Given the description of an element on the screen output the (x, y) to click on. 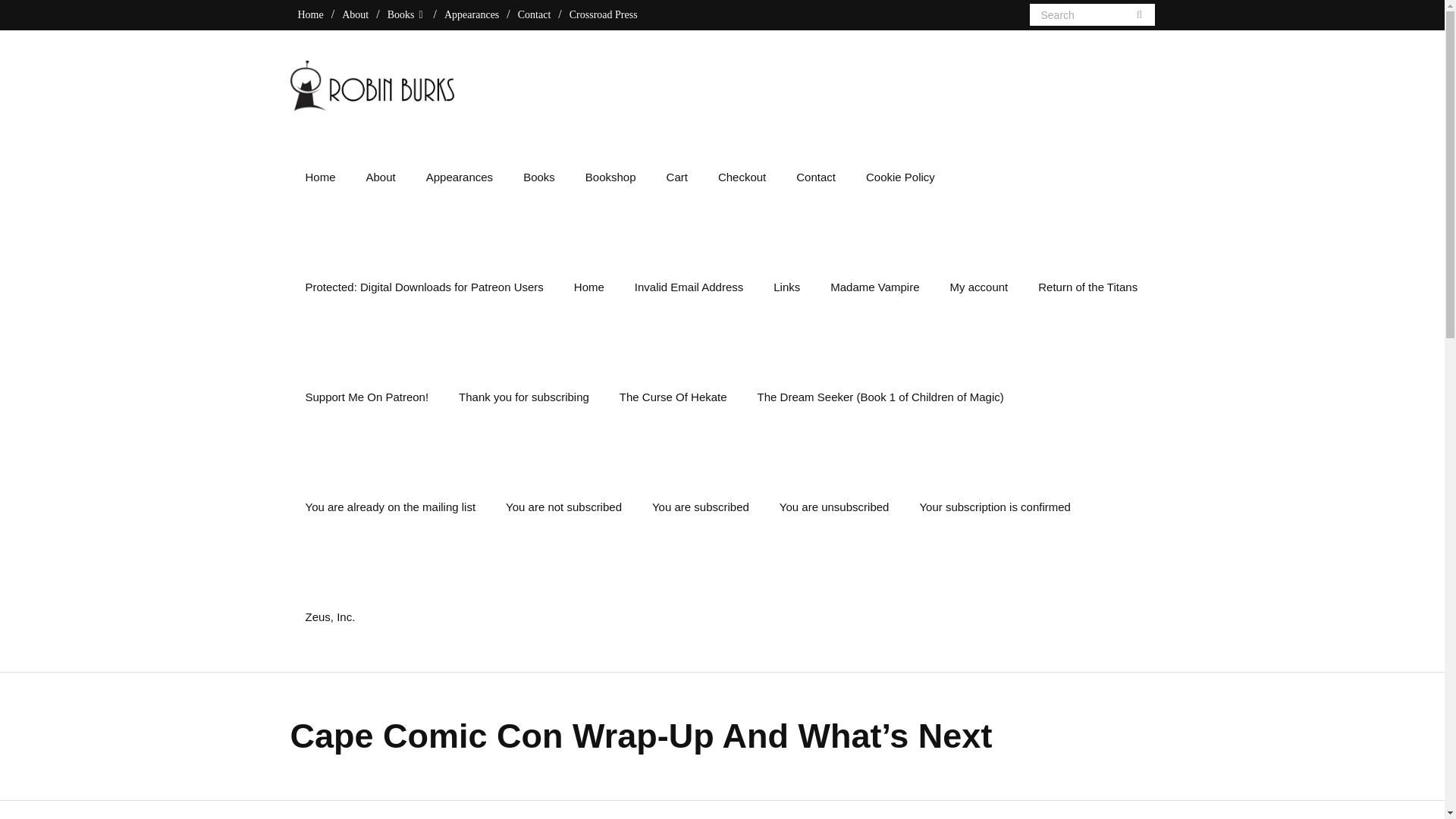
Home (309, 14)
Bookshop (610, 176)
Support Me On Patreon! (366, 397)
Contact (535, 14)
My account (978, 286)
Contact (815, 176)
Cart (676, 176)
Madame Vampire (874, 286)
The Curse Of Hekate (673, 397)
Appearances (471, 14)
Return of the Titans (1088, 286)
Links (786, 286)
About (354, 14)
Home (589, 286)
Invalid Email Address (689, 286)
